Given the description of an element on the screen output the (x, y) to click on. 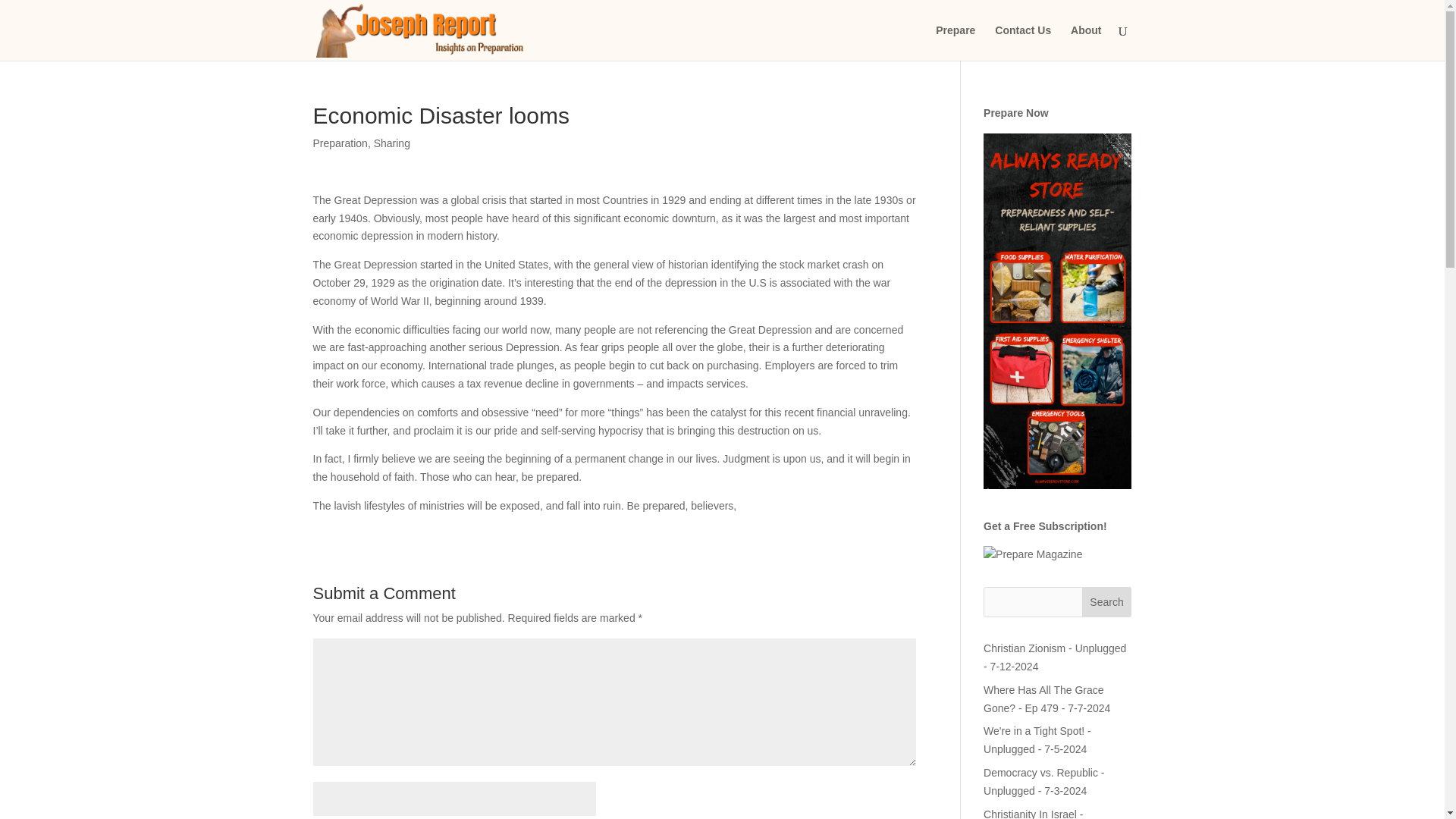
Prepare (955, 42)
Sharing (392, 143)
Christian Zionism - Unplugged - 7-12-2024 (1054, 657)
Christianity In Israel - Unplugged - 7-2-2024 (1035, 813)
Preparation (339, 143)
Where Has All The Grace Gone? - Ep 479 - 7-7-2024 (1046, 698)
Contact Us (1022, 42)
Democracy vs. Republic - Unplugged - 7-3-2024 (1044, 781)
We're in a Tight Spot! - Unplugged - 7-5-2024 (1037, 739)
Search (1106, 602)
Prepare Magazine (1032, 555)
